Given the description of an element on the screen output the (x, y) to click on. 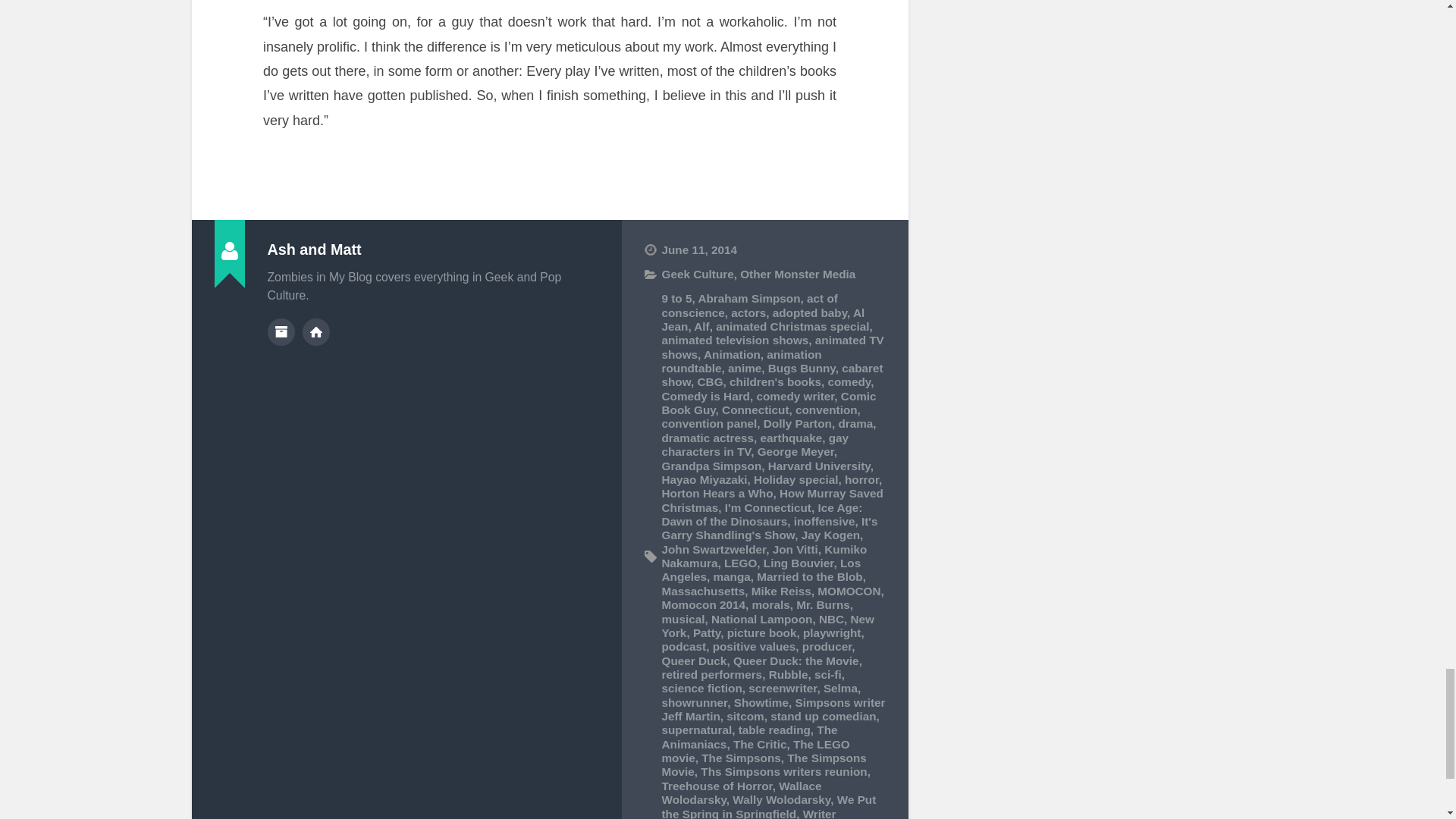
comedy (848, 381)
CBG (710, 381)
Alf (701, 326)
Connecticut (755, 409)
Geek Culture (697, 273)
convention panel (709, 422)
Author archive (280, 331)
animated television shows (734, 339)
anime (744, 367)
convention (825, 409)
